Given the description of an element on the screen output the (x, y) to click on. 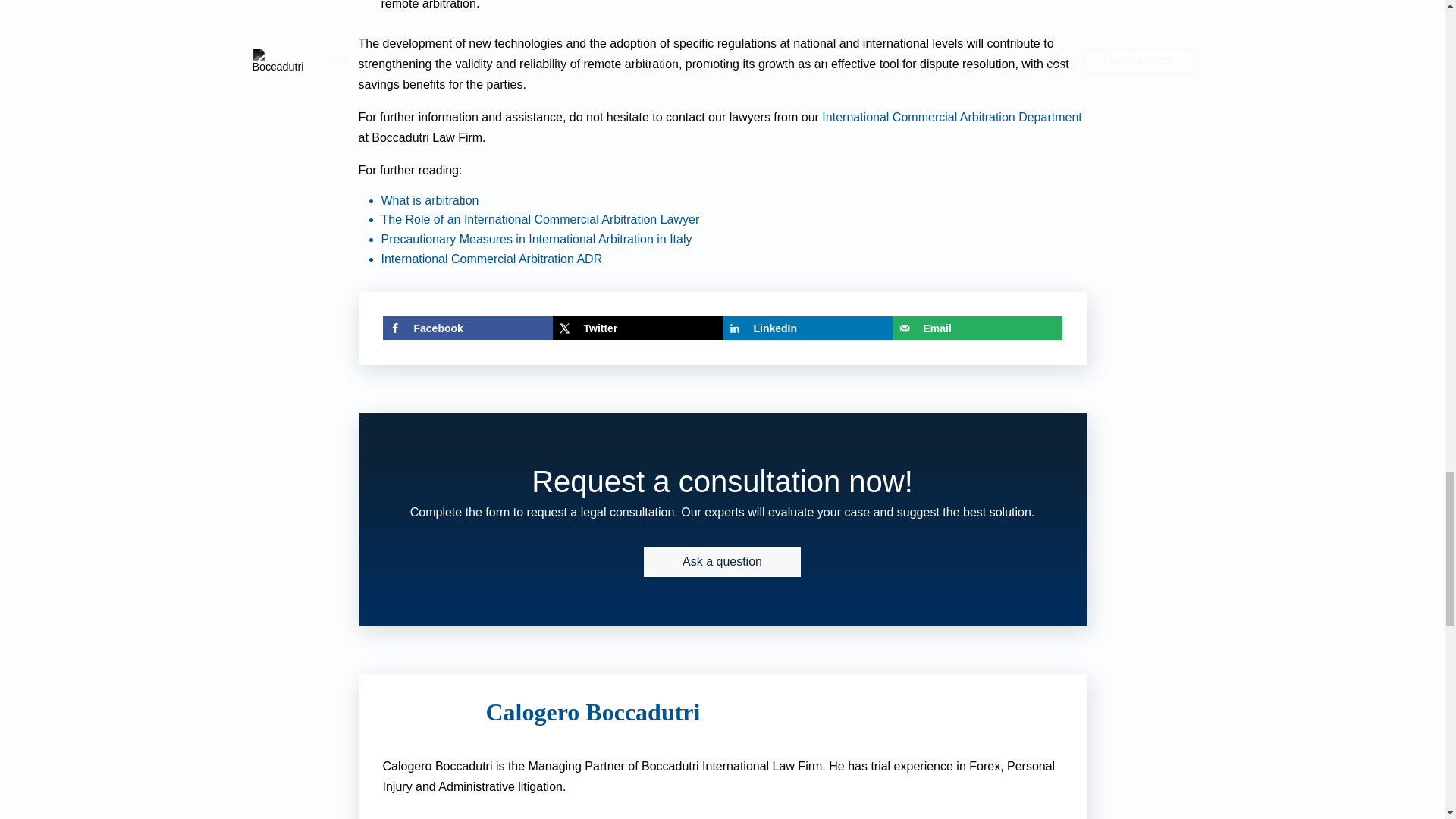
Share on X (636, 328)
Share on Facebook (466, 328)
Send over email (976, 328)
Share on LinkedIn (806, 328)
